Given the description of an element on the screen output the (x, y) to click on. 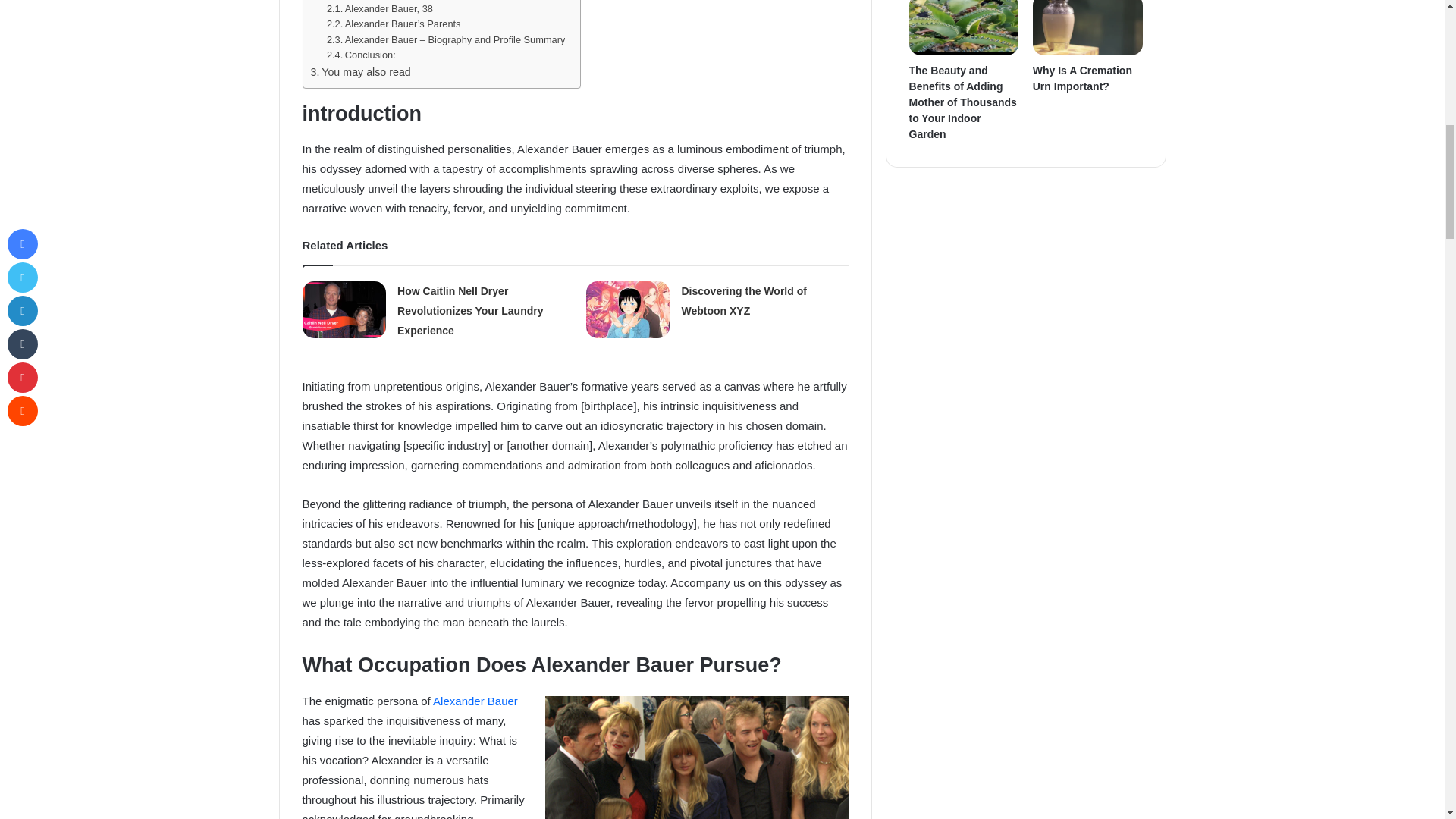
Discovering the World of Webtoon XYZ (743, 300)
Alexander Bauer, 38 (379, 9)
Alexander Bauer, 38 (379, 9)
You may also read (360, 72)
Conclusion:  (361, 55)
Alexander Bauer (475, 700)
